Given the description of an element on the screen output the (x, y) to click on. 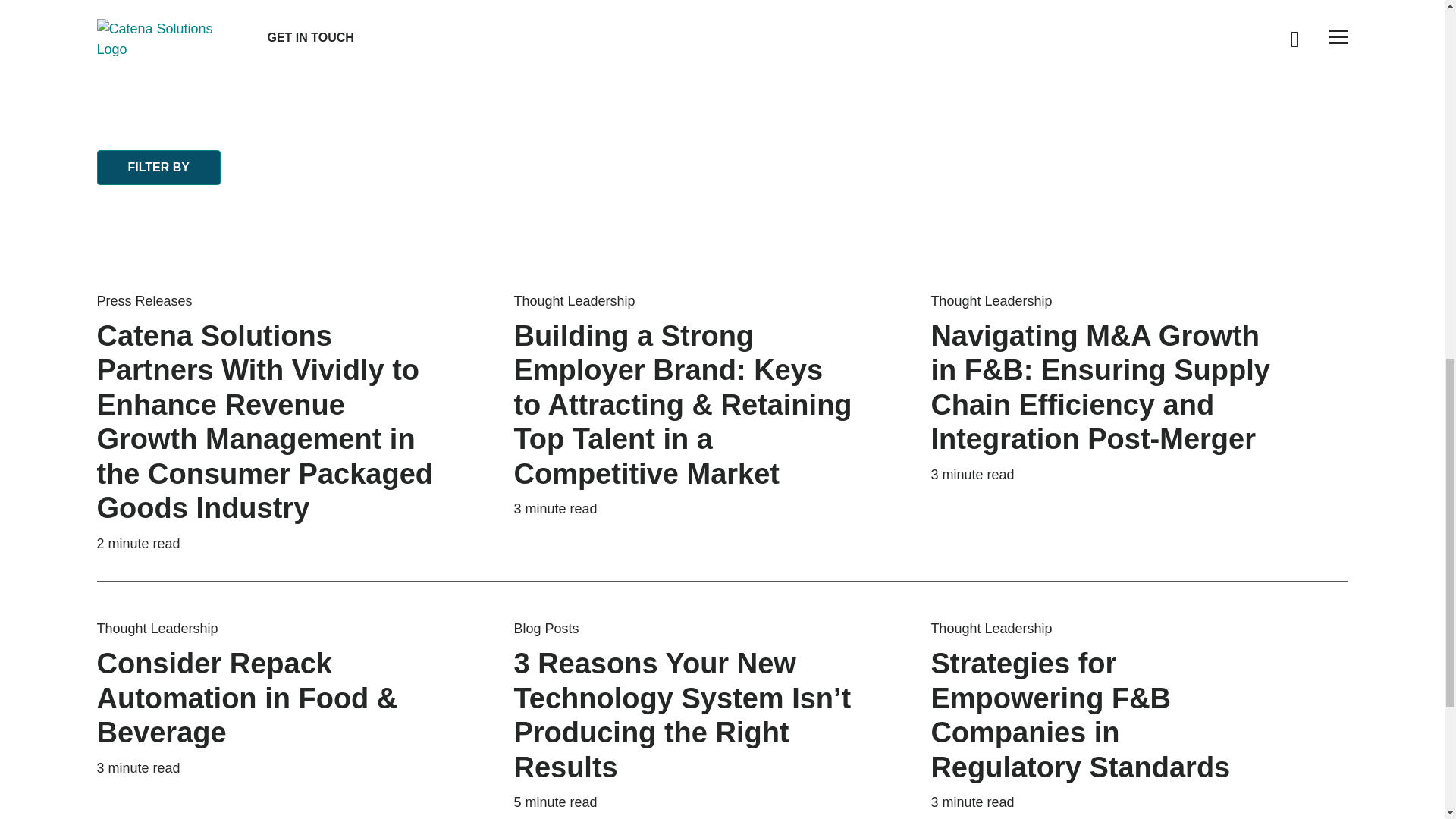
FILTER BY (159, 167)
FILTER BY (722, 191)
